Given the description of an element on the screen output the (x, y) to click on. 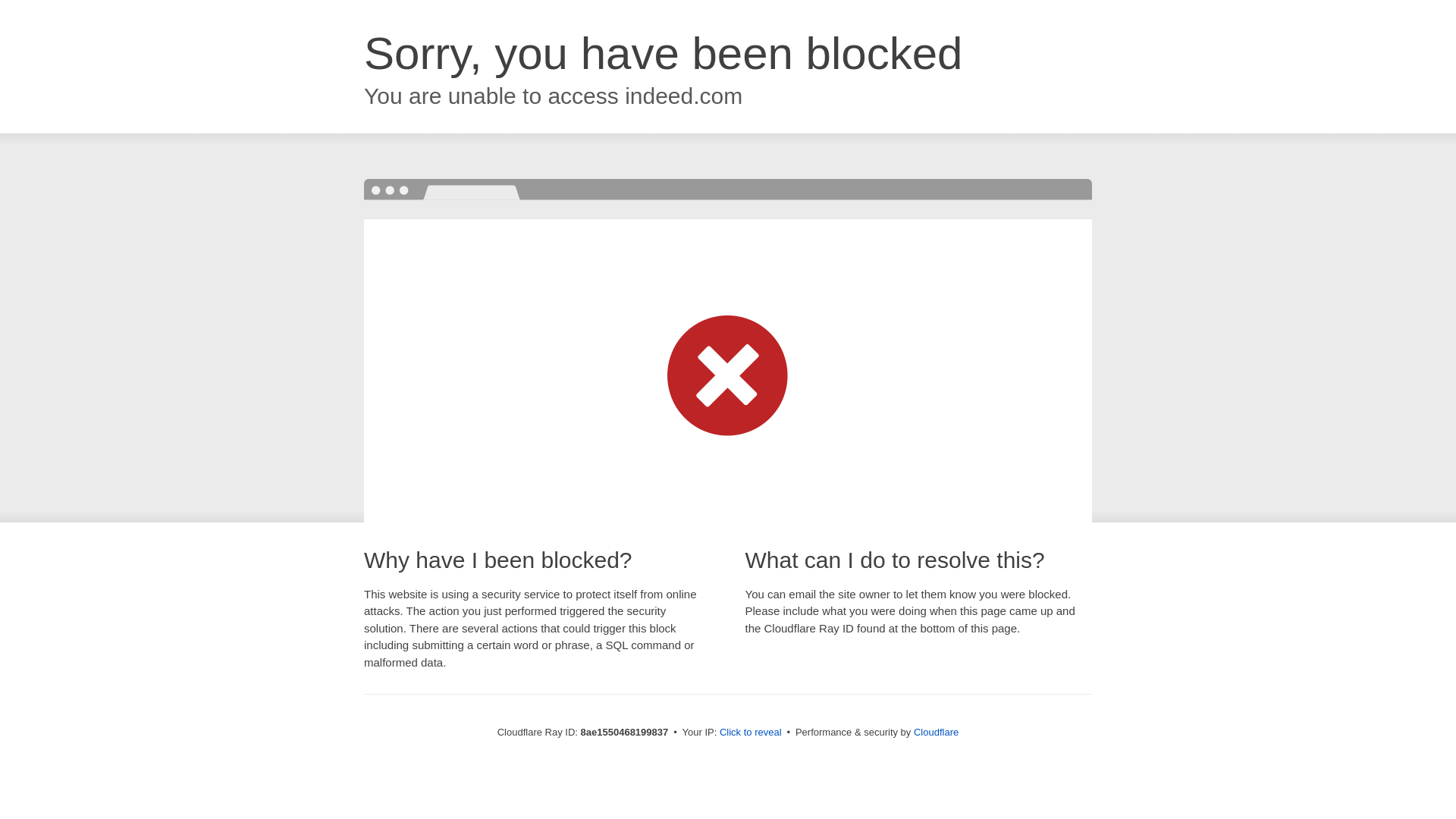
Click to reveal (750, 732)
Cloudflare (936, 731)
